Given the description of an element on the screen output the (x, y) to click on. 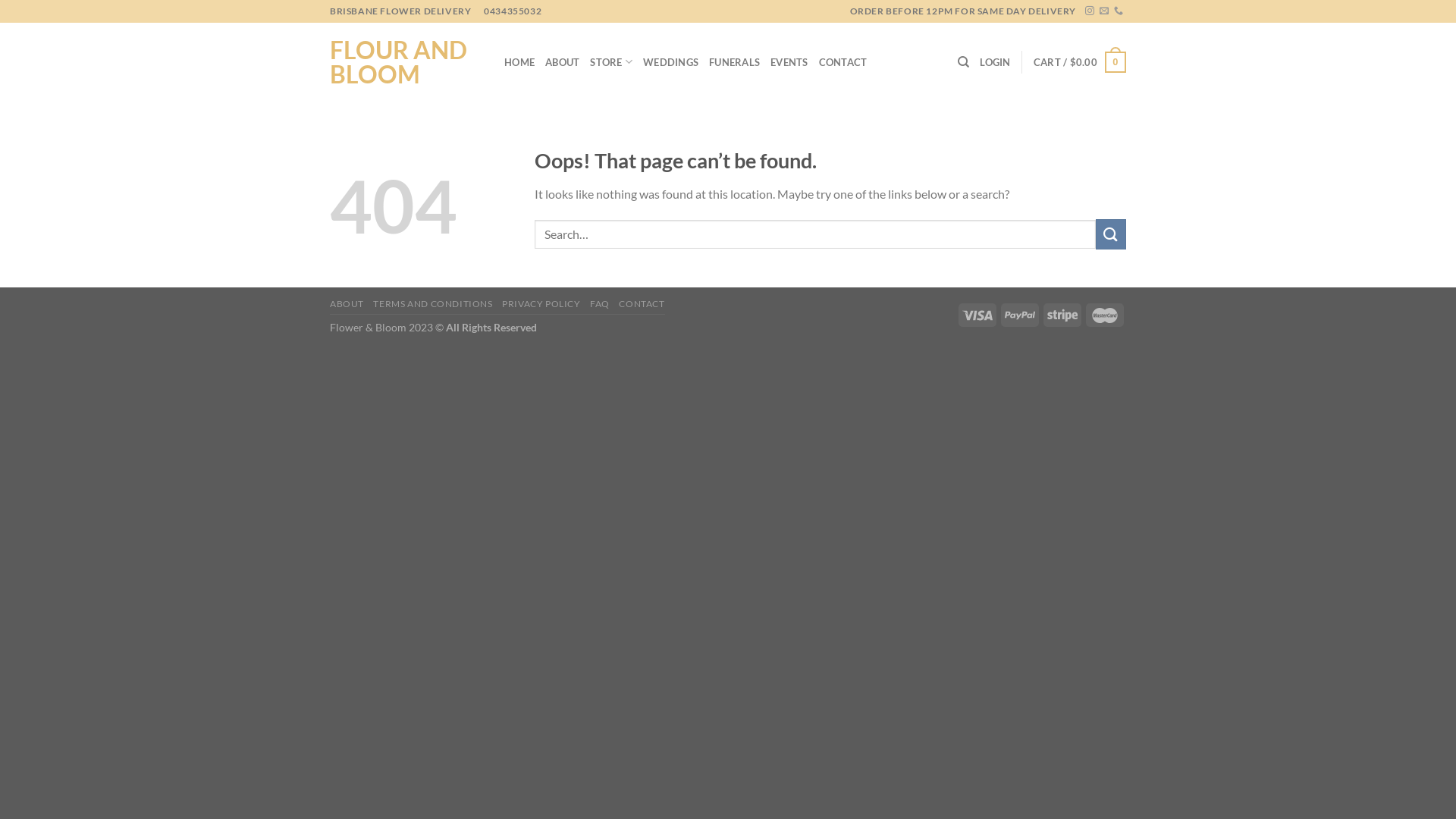
CONTACT Element type: text (641, 303)
CART / $0.00
0 Element type: text (1079, 61)
ABOUT Element type: text (346, 303)
HOME Element type: text (519, 62)
TERMS AND CONDITIONS Element type: text (432, 303)
EVENTS Element type: text (789, 62)
CONTACT Element type: text (843, 62)
FLOUR AND BLOOM Element type: text (405, 61)
LOGIN Element type: text (994, 62)
ABOUT Element type: text (562, 62)
WEDDINGS Element type: text (670, 62)
FUNERALS Element type: text (734, 62)
STORE Element type: text (610, 62)
FAQ Element type: text (599, 303)
PRIVACY POLICY Element type: text (541, 303)
